Given the description of an element on the screen output the (x, y) to click on. 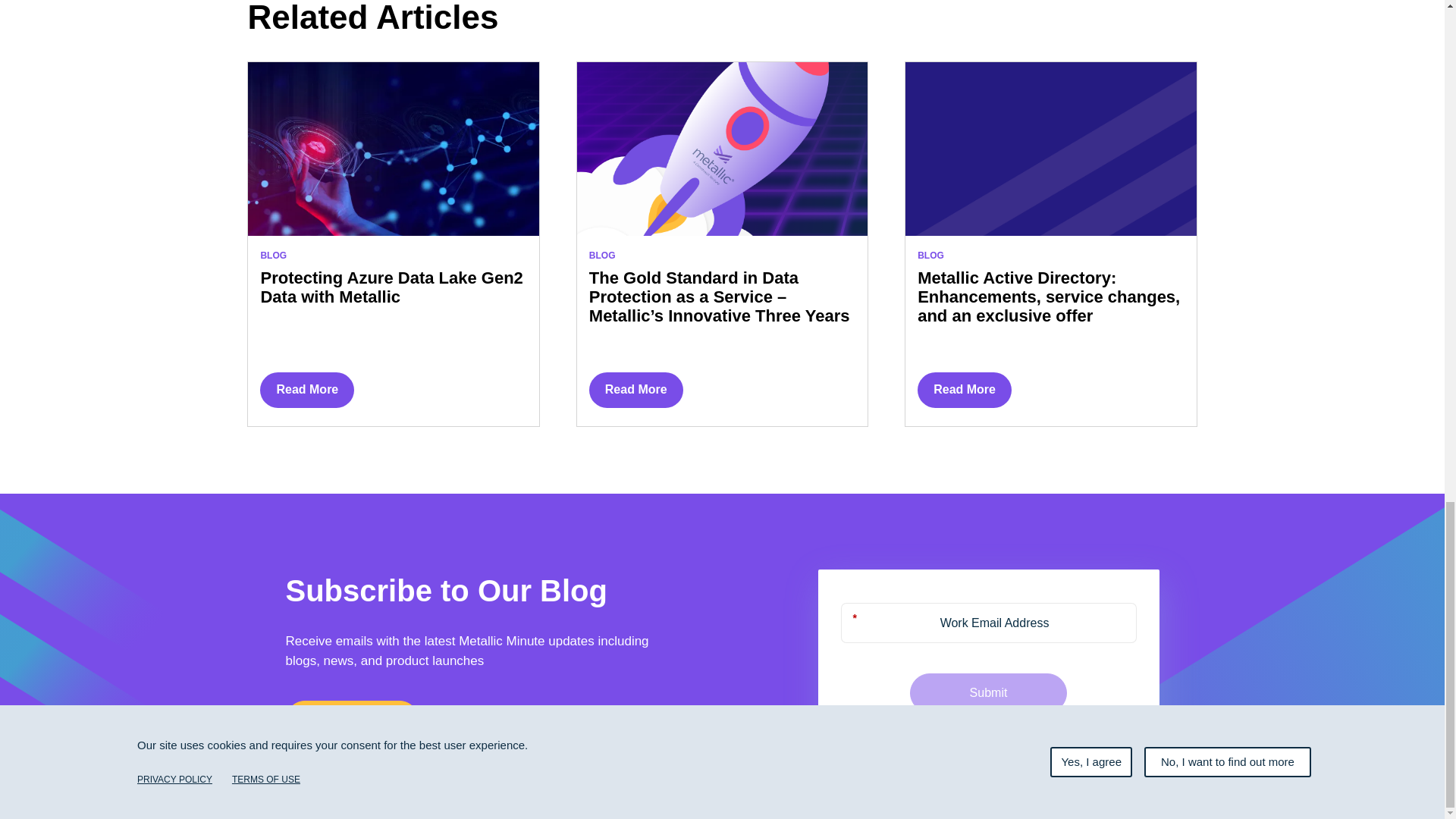
Start a free trial (351, 719)
BLOG (930, 255)
BLOG (602, 255)
Submit (988, 692)
BLOG (273, 255)
